Given the description of an element on the screen output the (x, y) to click on. 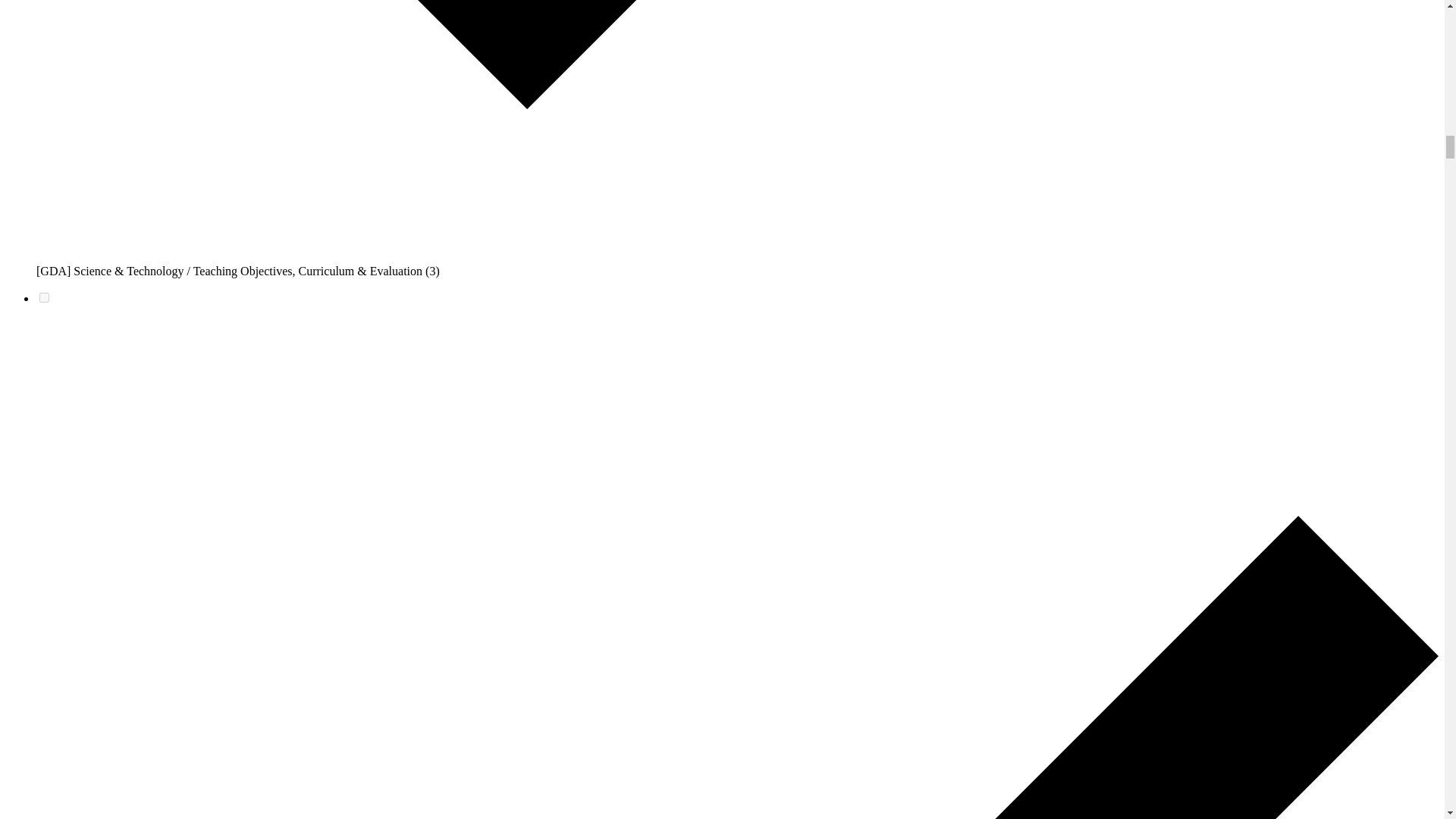
77 (44, 297)
